Given the description of an element on the screen output the (x, y) to click on. 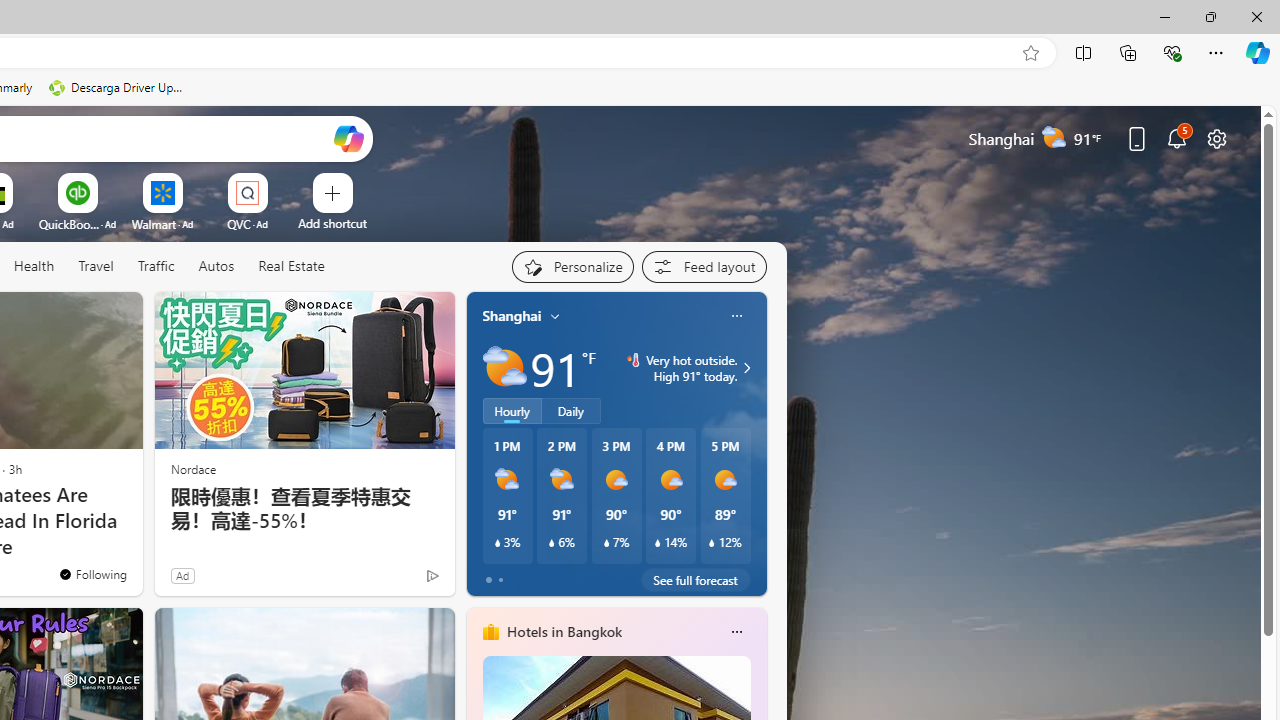
Partly sunny (504, 368)
Personalize your feed" (571, 266)
hotels-header-icon (490, 632)
Partly sunny (504, 368)
